Given the description of an element on the screen output the (x, y) to click on. 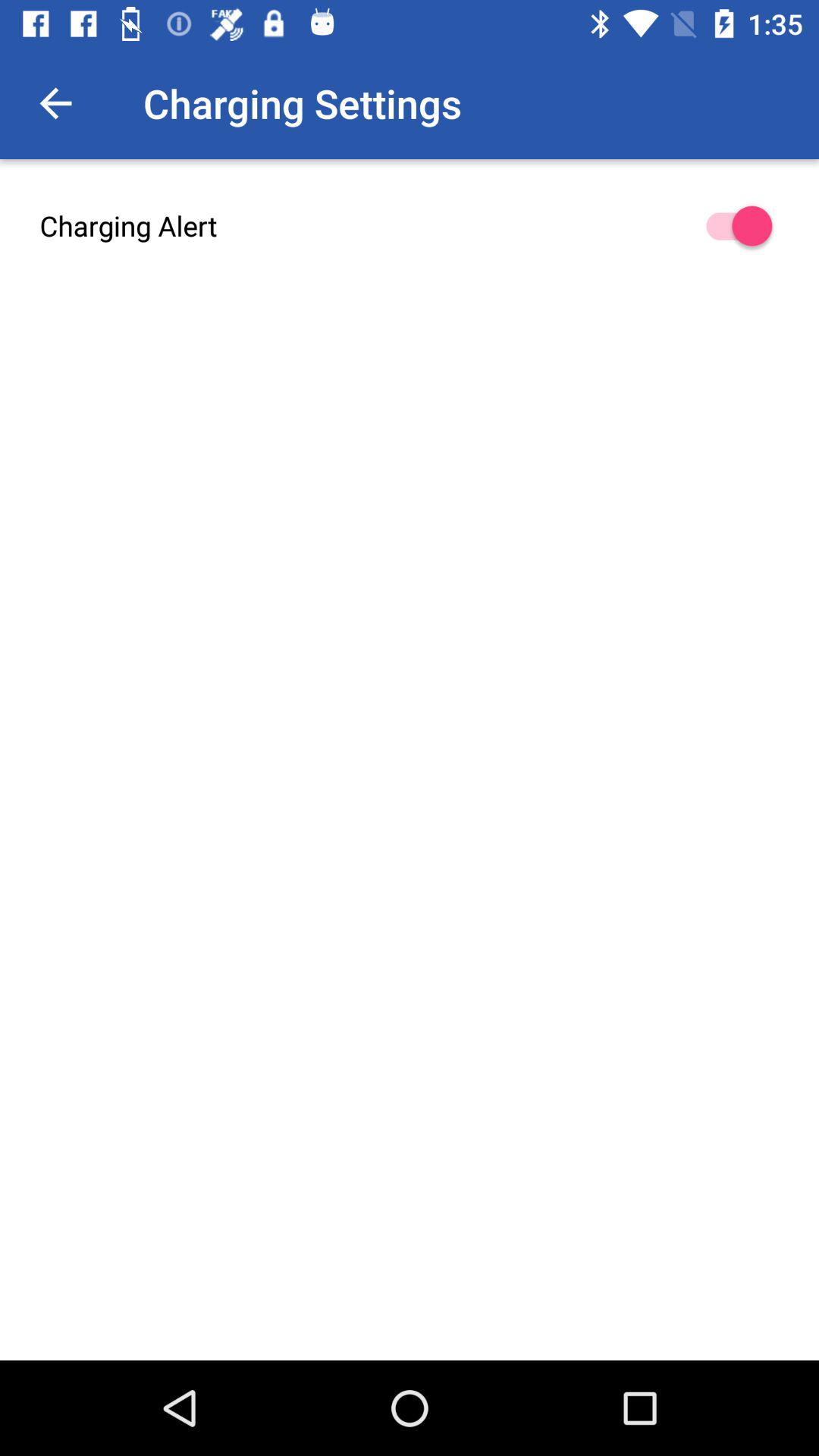
open icon above the charging alert (55, 103)
